Given the description of an element on the screen output the (x, y) to click on. 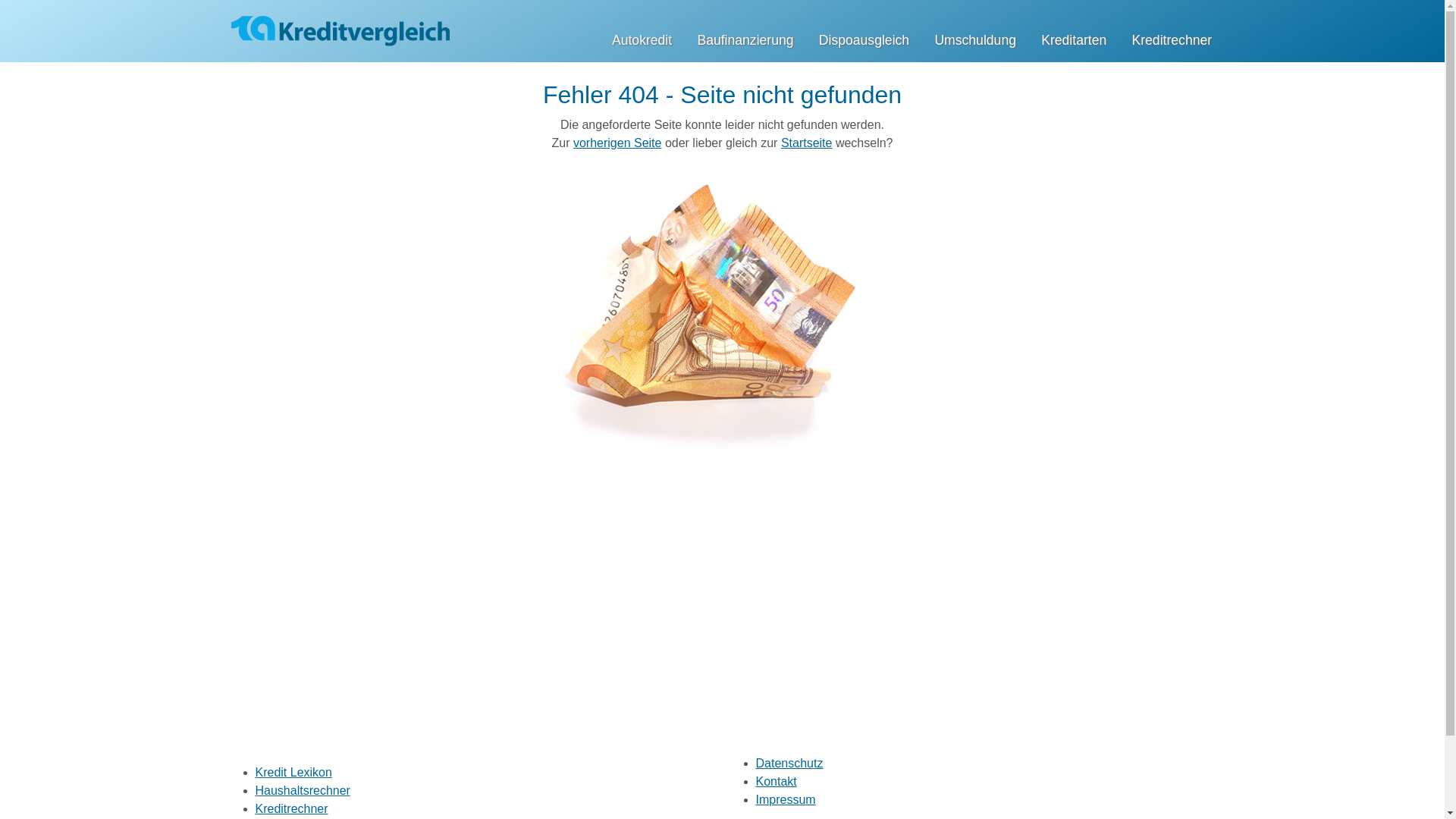
Autokredit Element type: text (642, 39)
Kredit Lexikon Element type: text (292, 771)
Startseite Element type: text (806, 142)
Umschuldung Element type: text (974, 39)
Kreditrechner Element type: text (1171, 39)
Impressum Element type: text (785, 799)
Kreditarten Element type: text (1073, 39)
Dispoausgleich Element type: text (863, 39)
Datenschutz Element type: text (788, 762)
Baufinanzierung Element type: text (745, 39)
Kontakt Element type: text (775, 781)
Haushaltsrechner Element type: text (301, 790)
vorherigen Seite Element type: text (617, 142)
Kreditrechner Element type: text (290, 808)
